Given the description of an element on the screen output the (x, y) to click on. 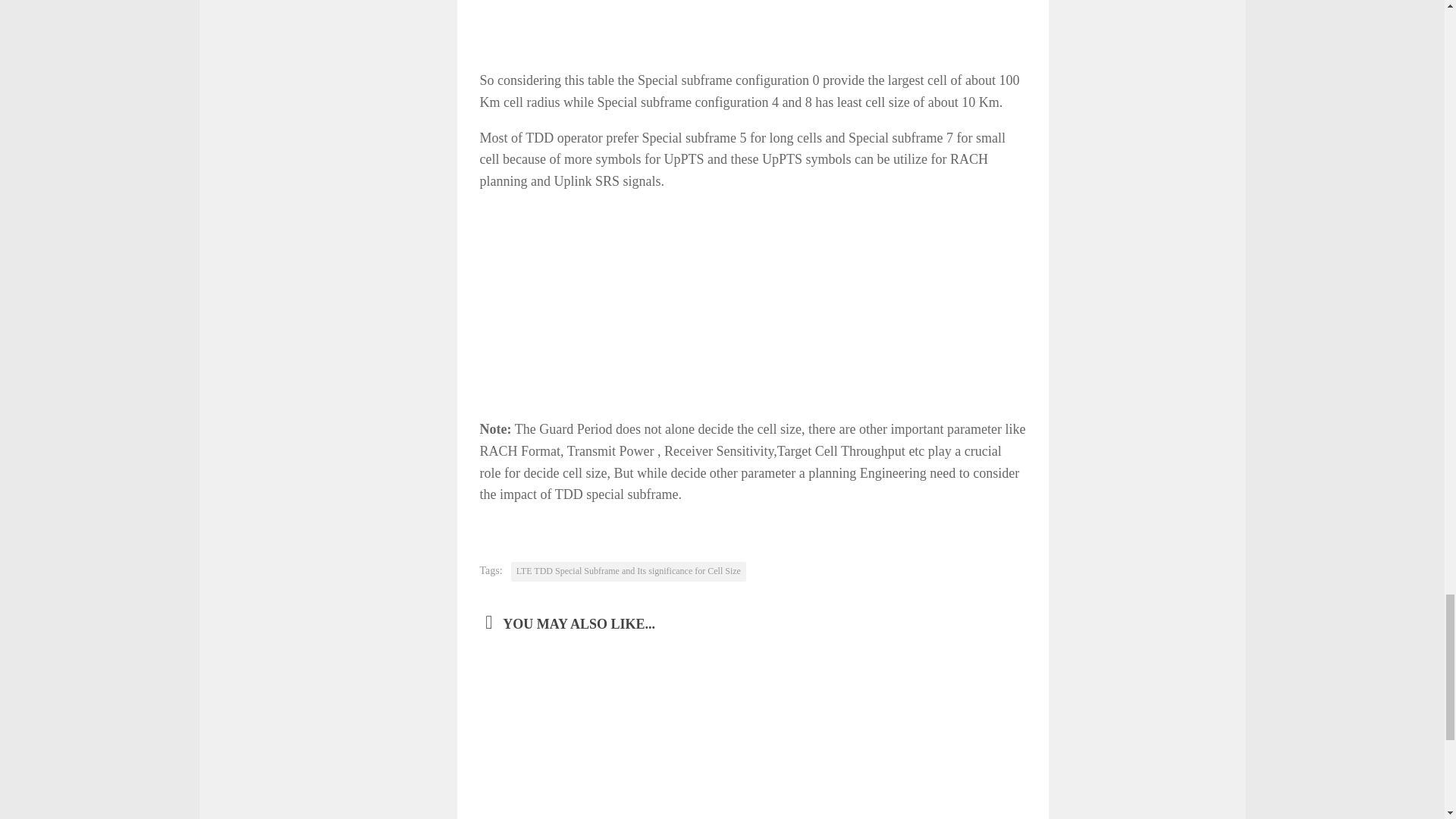
LTE TDD Special Subframe and Its significance for Cell Size (628, 571)
